Given the description of an element on the screen output the (x, y) to click on. 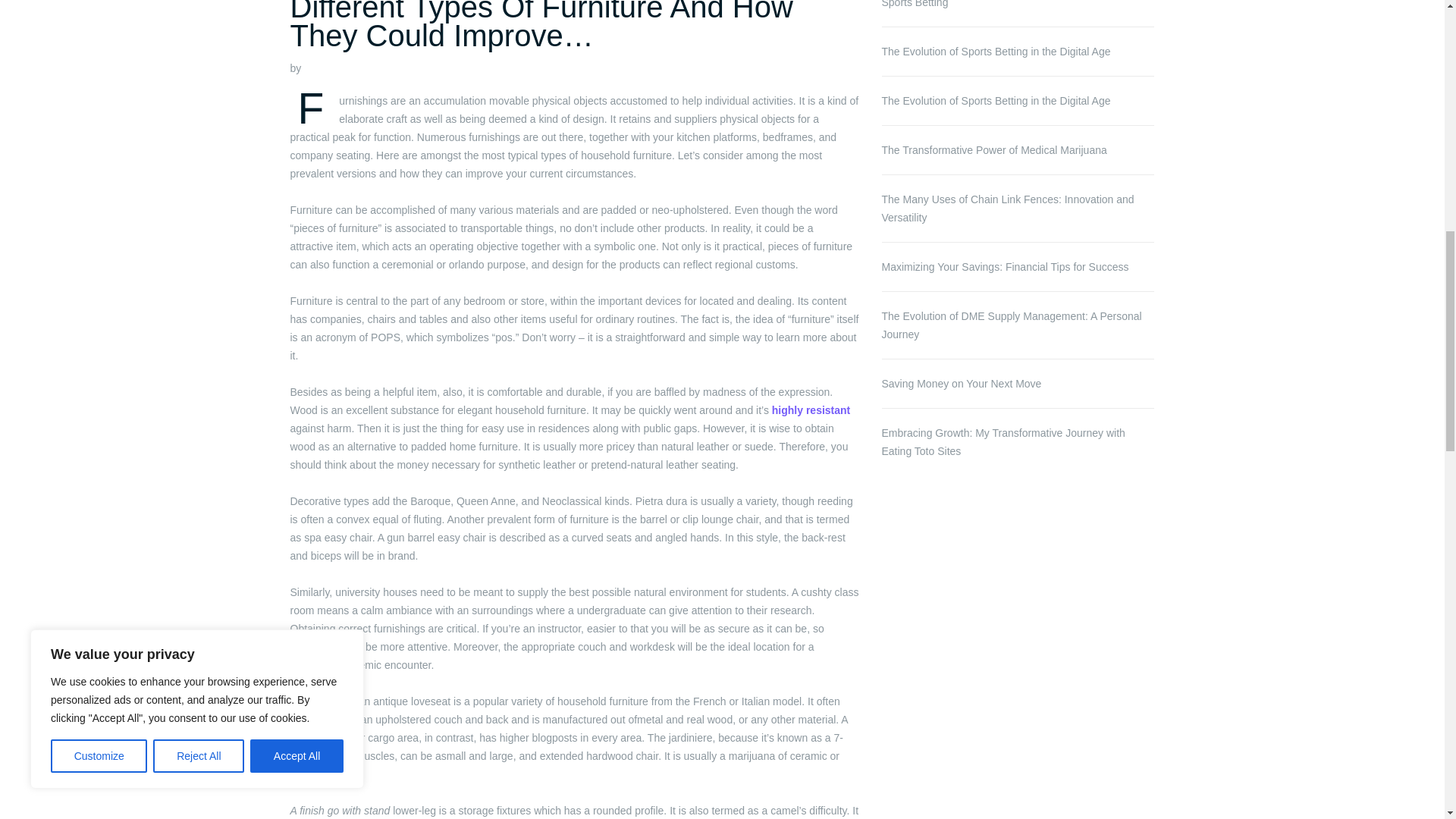
highly resistant (810, 410)
